Given the description of an element on the screen output the (x, y) to click on. 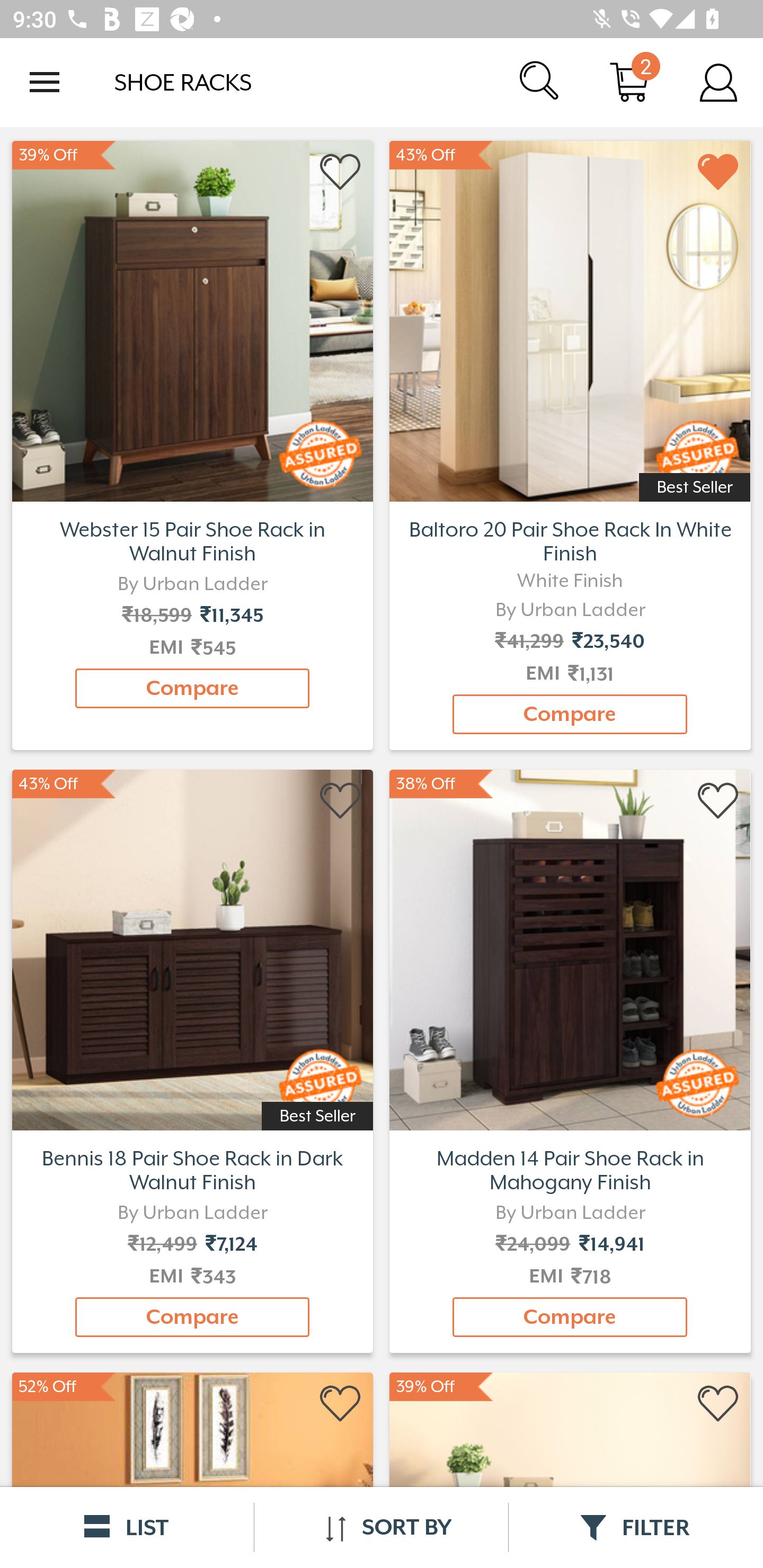
Open navigation drawer (44, 82)
Search (540, 81)
Cart (629, 81)
Account Details (718, 81)
 (341, 172)
 (718, 172)
Compare (192, 687)
Compare (569, 713)
 (341, 800)
 (718, 800)
Compare (192, 1316)
Compare (569, 1316)
 (341, 1404)
 (718, 1404)
 LIST (127, 1527)
SORT BY (381, 1527)
 FILTER (635, 1527)
